Given the description of an element on the screen output the (x, y) to click on. 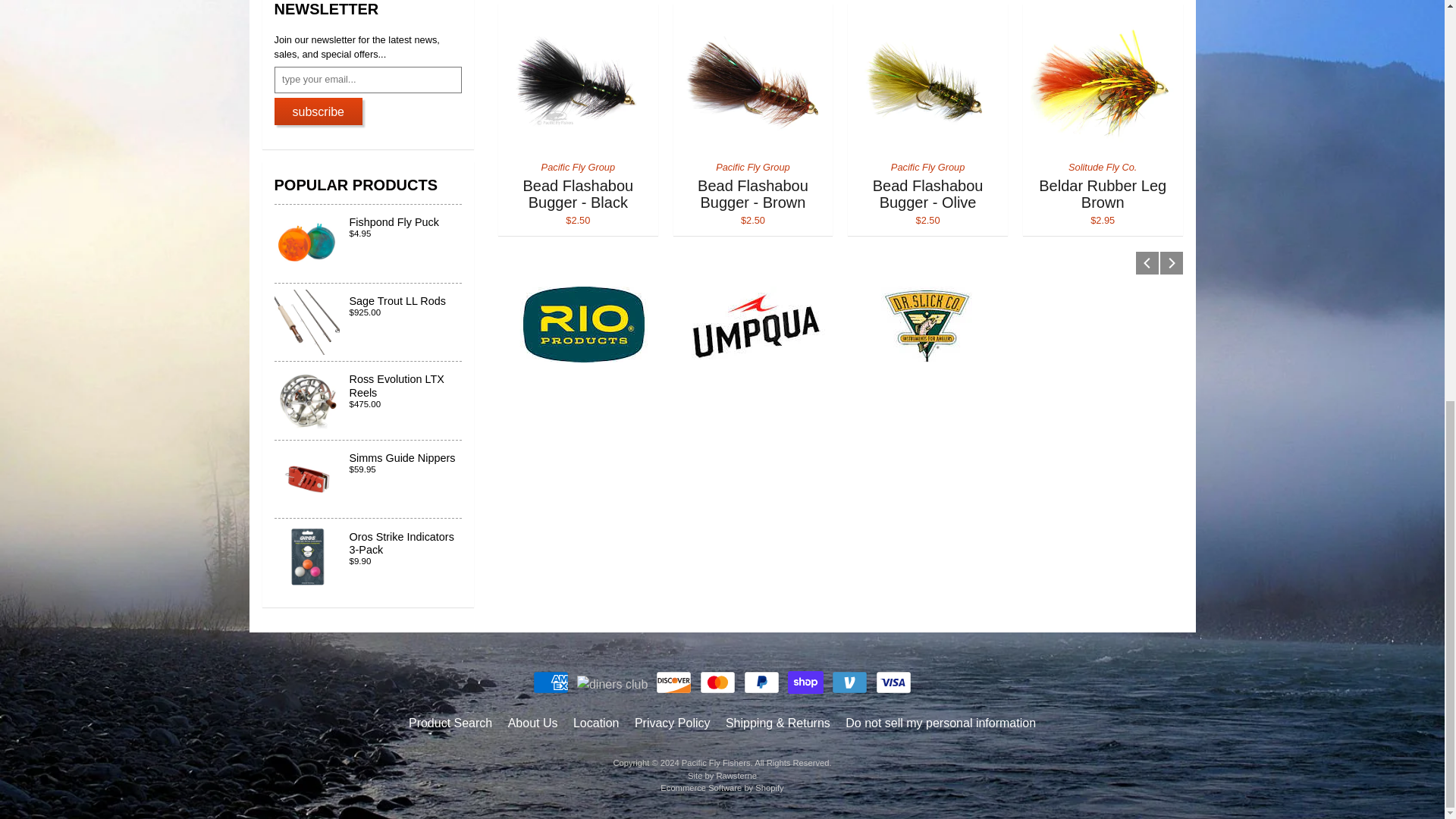
Fishpond Fly Puck (369, 243)
Oros Strike Indicators 3-Pack (369, 556)
Ross Evolution LTX Reels (369, 400)
Simms Guide Nippers (369, 479)
Sage Trout LL Rods (369, 322)
